Given the description of an element on the screen output the (x, y) to click on. 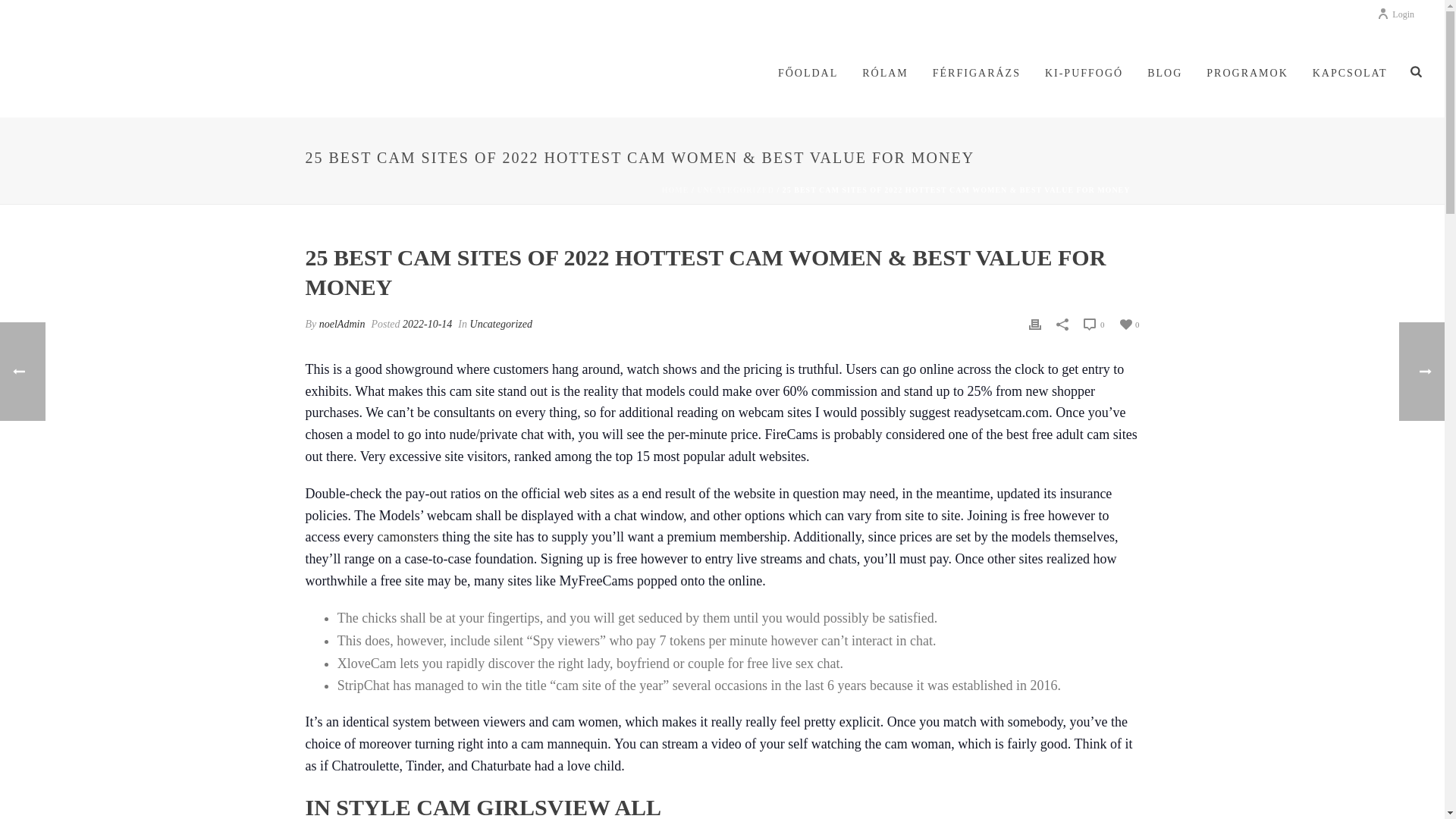
KAPCSOLAT (1349, 73)
KAPCSOLAT (1349, 73)
UNCATEGORIZED (735, 189)
noelAdmin (341, 324)
PROGRAMOK (1246, 73)
camonsters (407, 536)
BLOG (1164, 73)
HOME (675, 189)
0 (1128, 322)
Uncategorized (501, 324)
Login (1395, 14)
PROGRAMOK (1246, 73)
2022-10-14 (427, 324)
BLOG (1164, 73)
